Given the description of an element on the screen output the (x, y) to click on. 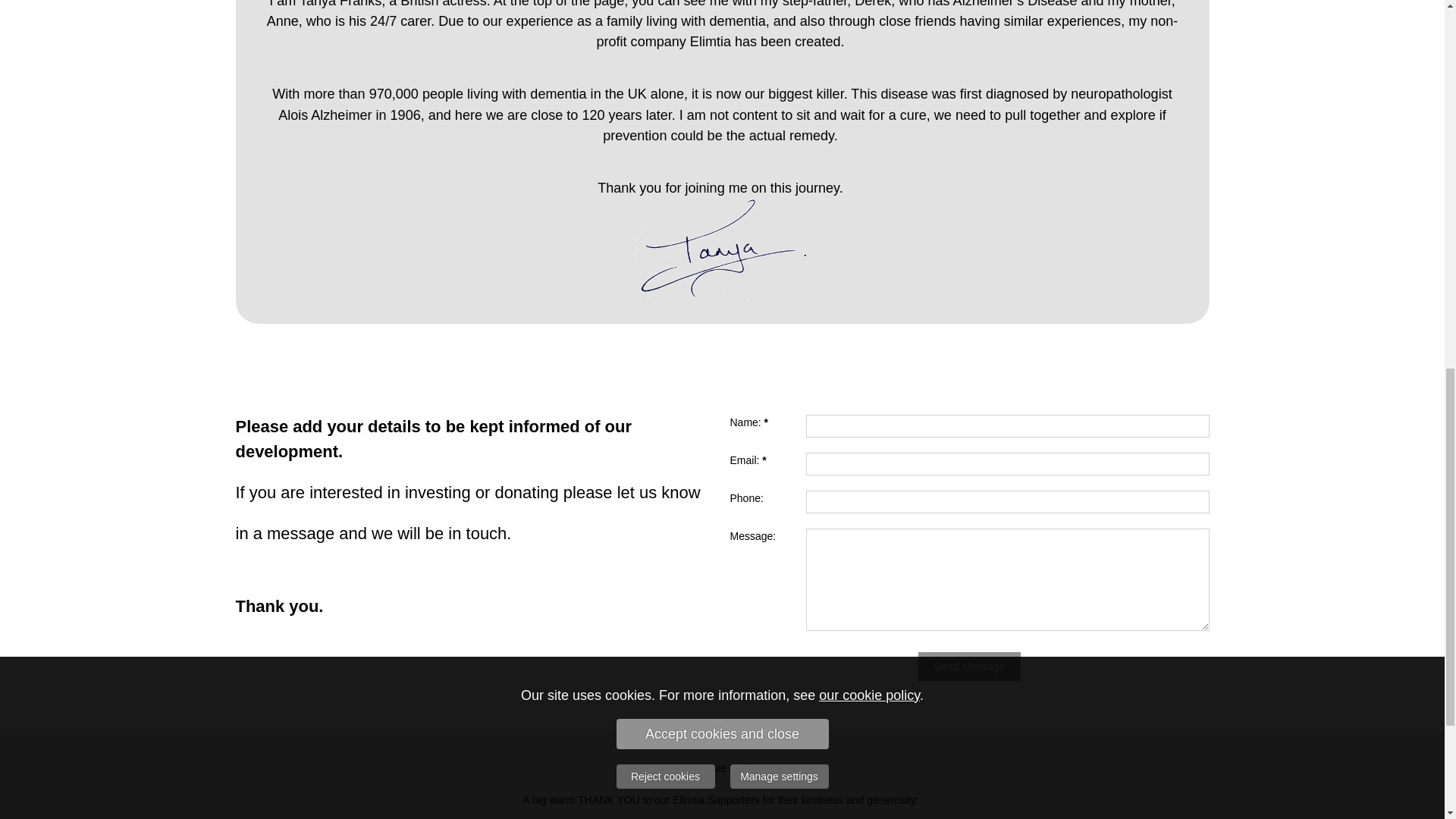
Send Message (969, 665)
